Given the description of an element on the screen output the (x, y) to click on. 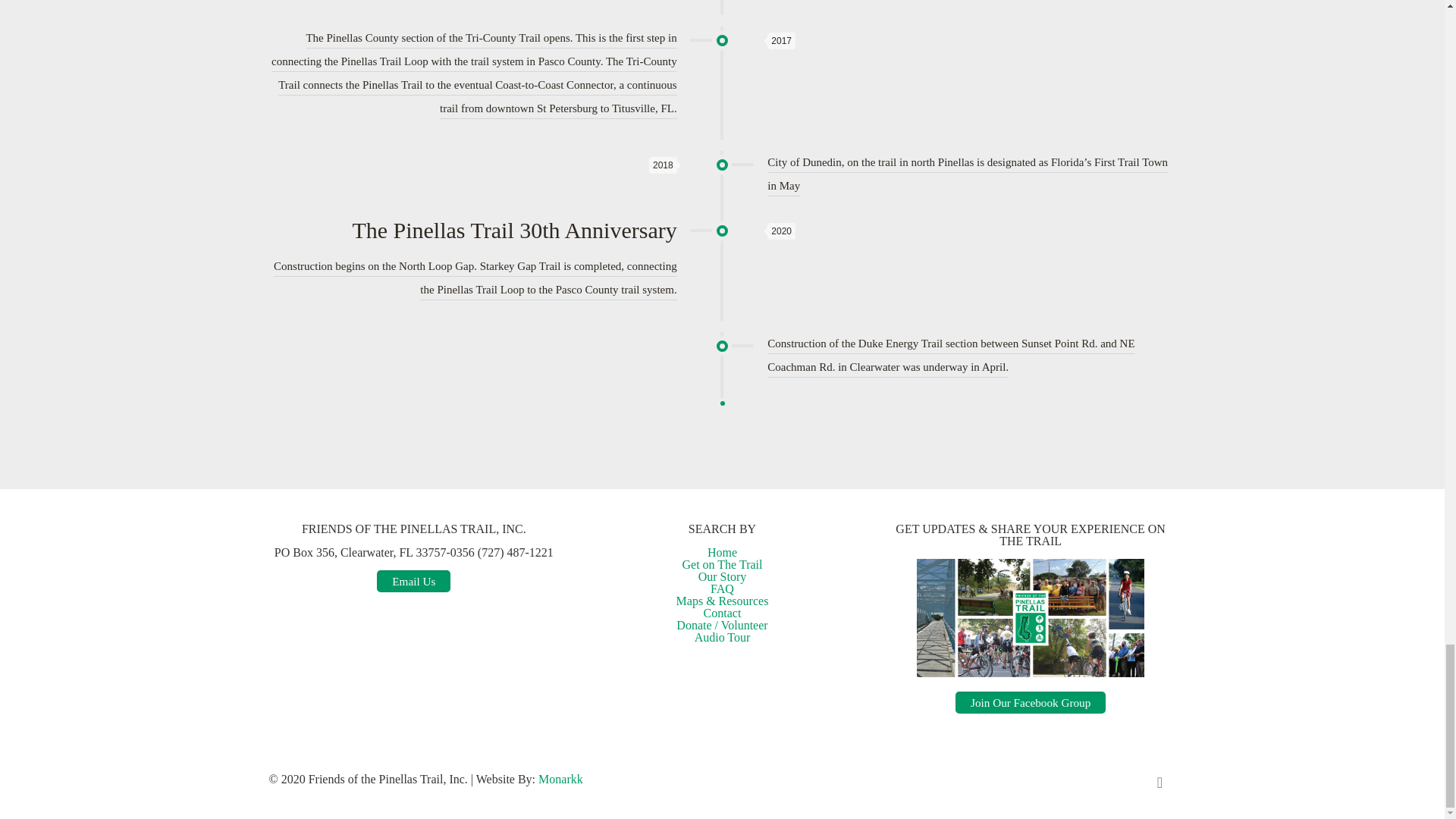
FAQ (721, 588)
Join Our Facebook Group (1030, 702)
Home (721, 552)
Get on The Trail (722, 563)
Contact (722, 612)
Our Story (722, 576)
Monarkk (560, 779)
Audio Tour (722, 636)
Email Us (413, 581)
